Given the description of an element on the screen output the (x, y) to click on. 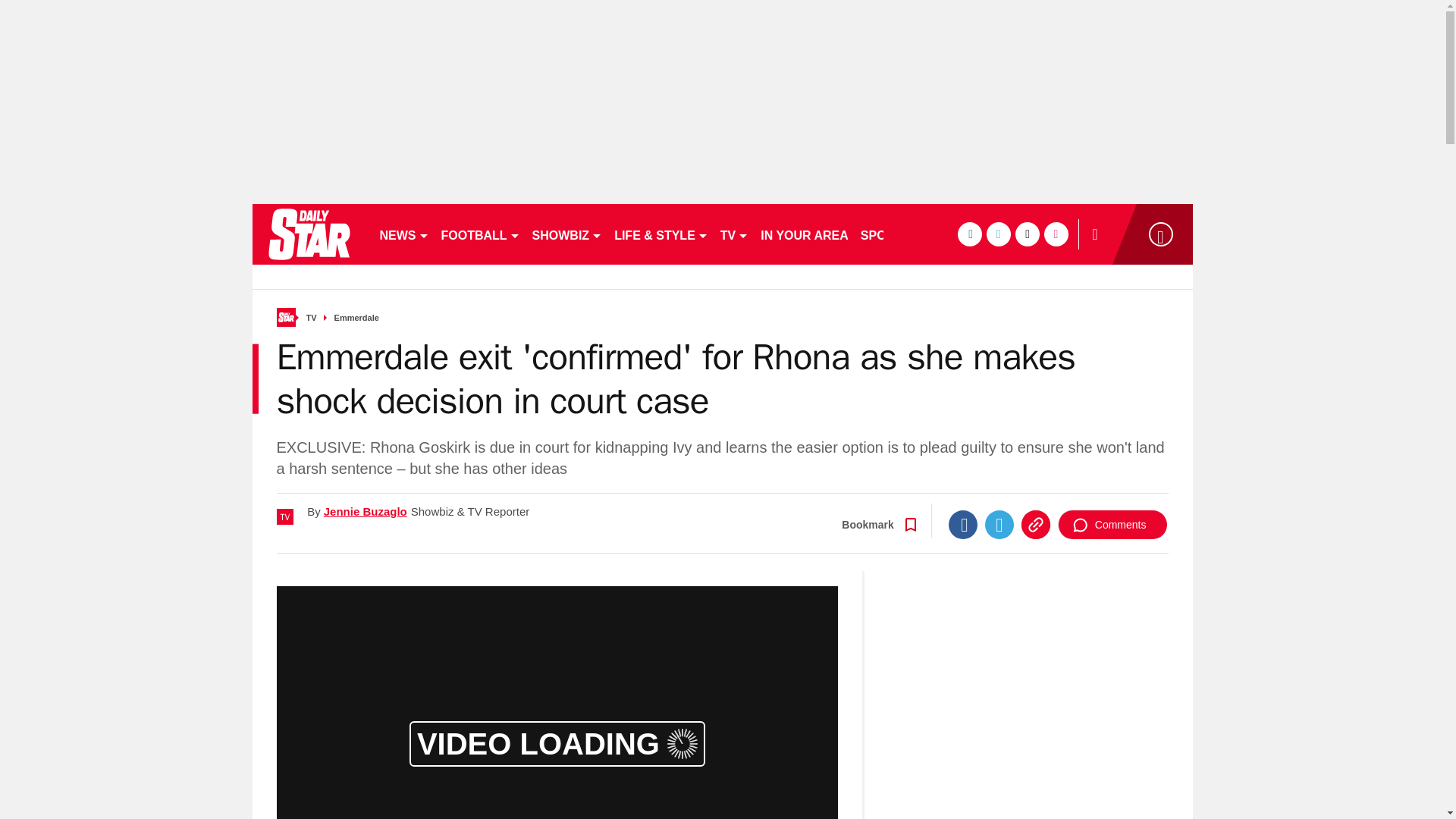
instagram (1055, 233)
TV (734, 233)
FOOTBALL (480, 233)
Twitter (999, 524)
facebook (968, 233)
Facebook (962, 524)
NEWS (402, 233)
SHOWBIZ (566, 233)
tiktok (1026, 233)
Comments (1112, 524)
twitter (997, 233)
dailystar (308, 233)
